Given the description of an element on the screen output the (x, y) to click on. 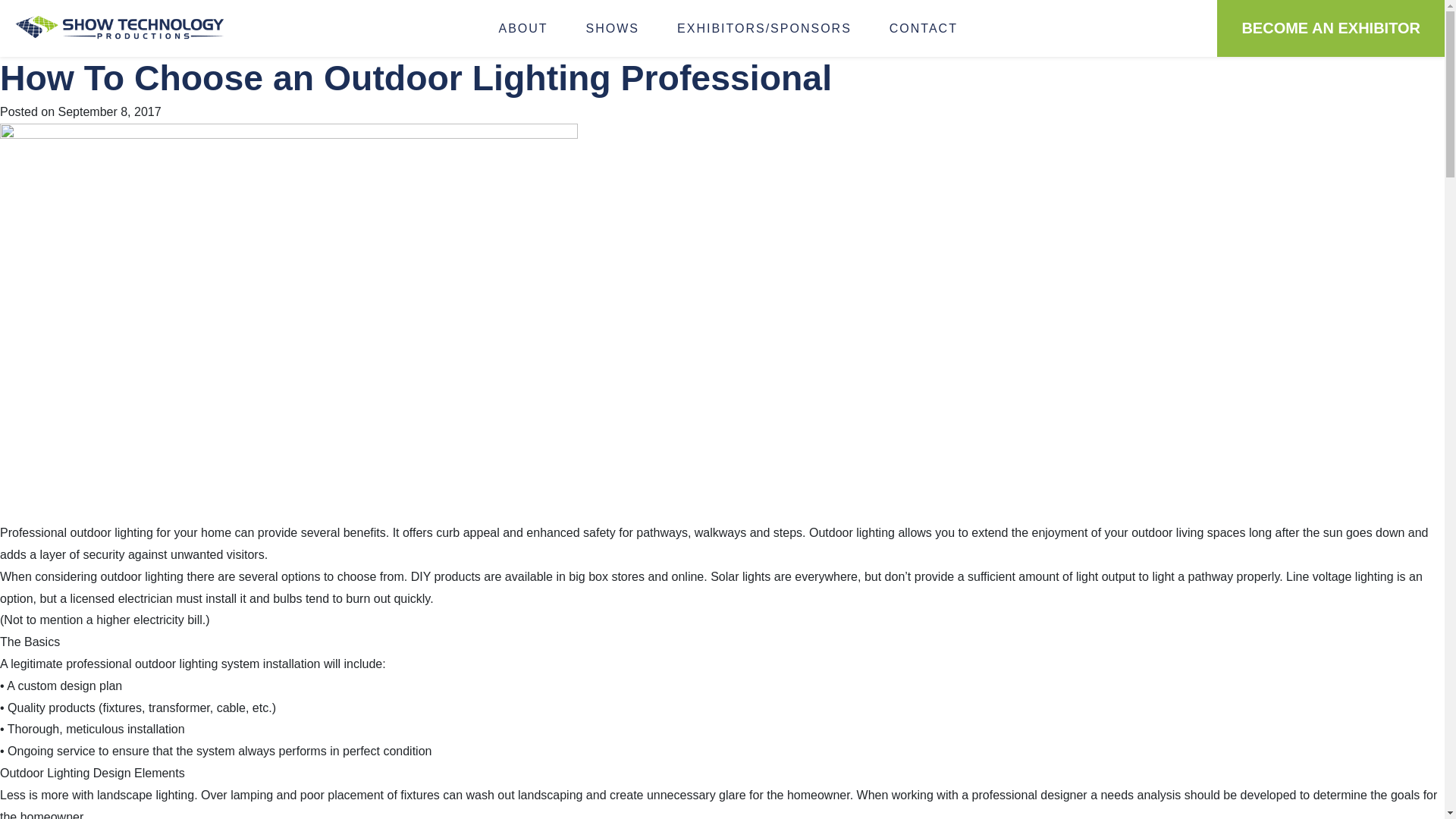
ABOUT (522, 28)
CONTACT (923, 28)
Shows (612, 28)
About (522, 28)
SHOWS (612, 28)
How To Choose an Outdoor Lighting Professional (415, 77)
Contact (923, 28)
